Given the description of an element on the screen output the (x, y) to click on. 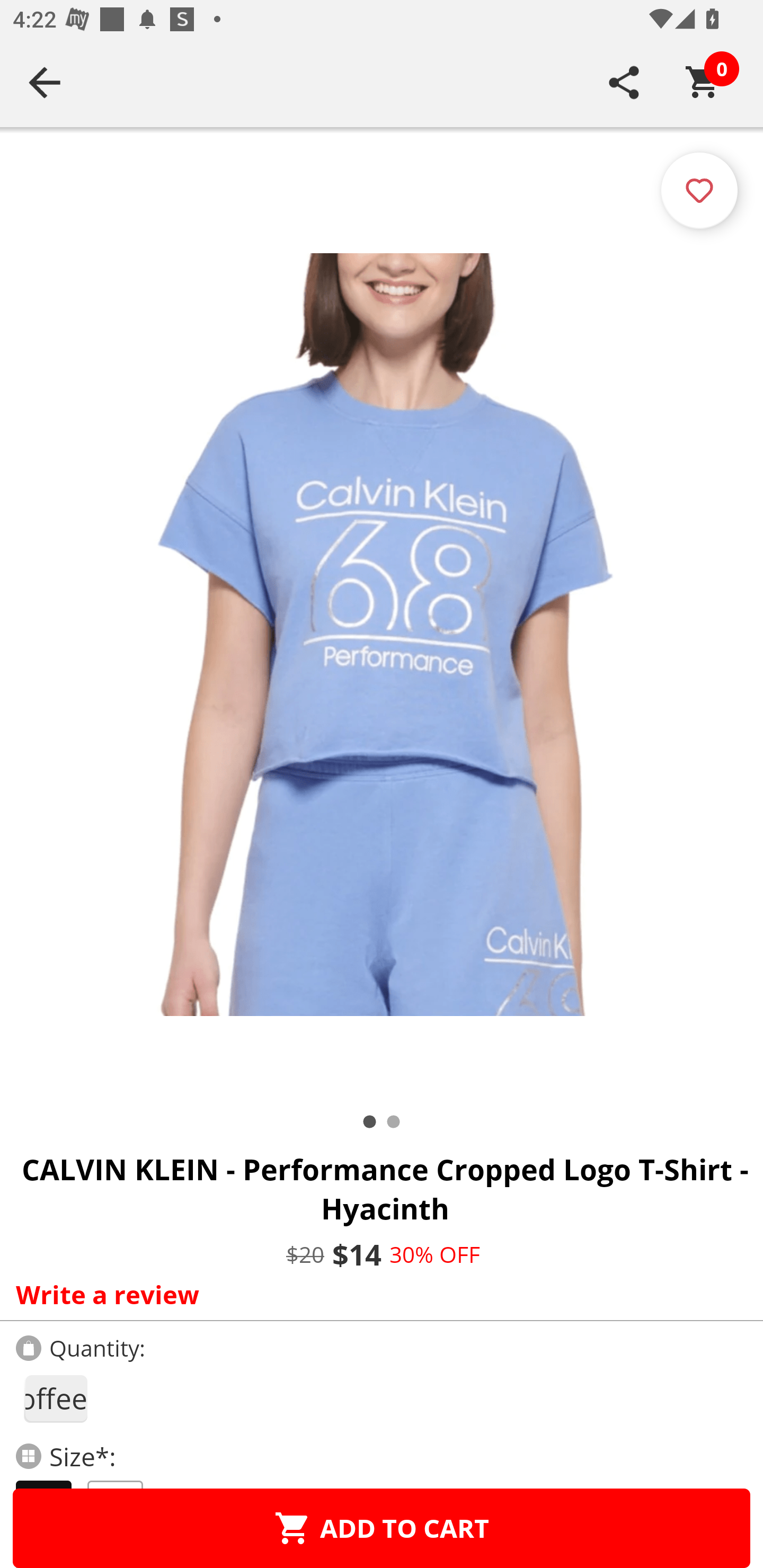
Navigate up (44, 82)
SHARE (623, 82)
Cart (703, 81)
Write a review (377, 1294)
1coffee (55, 1398)
ADD TO CART (381, 1528)
